Given the description of an element on the screen output the (x, y) to click on. 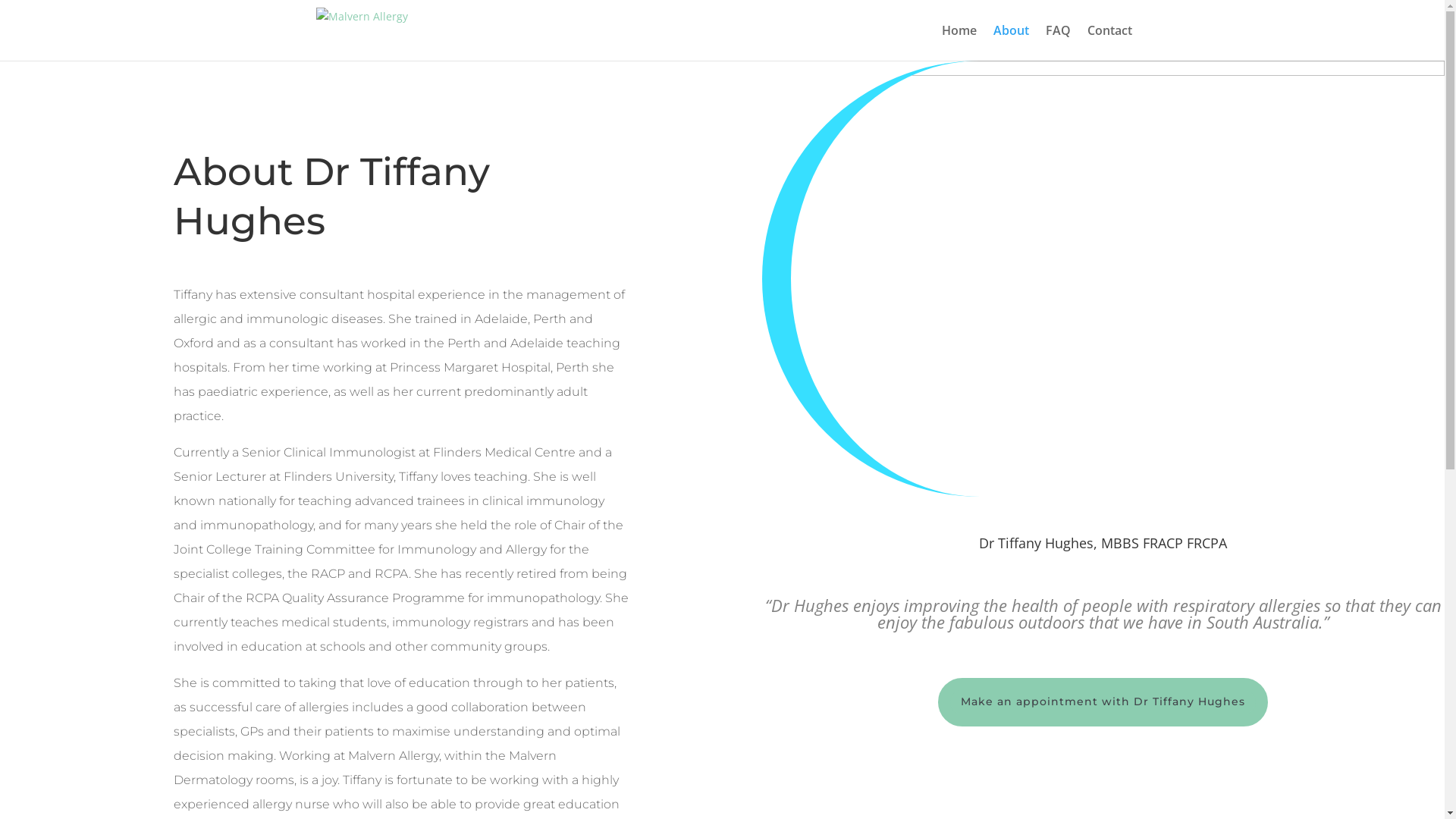
FAQ Element type: text (1057, 42)
Make an appointment with Dr Tiffany Hughes Element type: text (1102, 701)
Home Element type: text (958, 42)
Contact Element type: text (1109, 42)
About Element type: text (1011, 42)
